Given the description of an element on the screen output the (x, y) to click on. 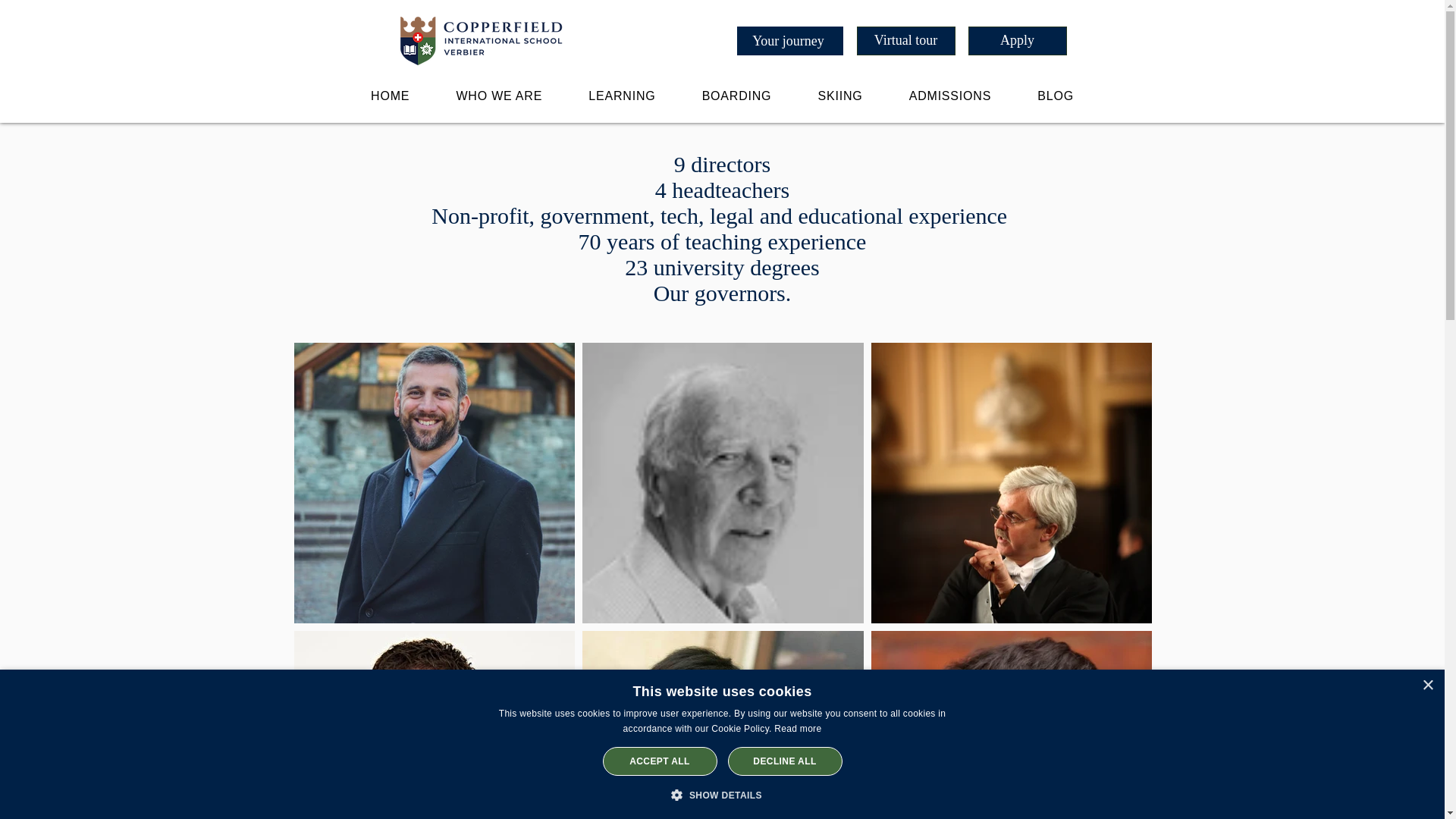
Your journey (789, 40)
BLOG (1055, 95)
LEARNING (622, 95)
BOARDING (736, 95)
Apply (1016, 40)
Virtual tour (906, 40)
ADMISSIONS (949, 95)
HOME (389, 95)
WHO WE ARE (498, 95)
SKIING (839, 95)
